Given the description of an element on the screen output the (x, y) to click on. 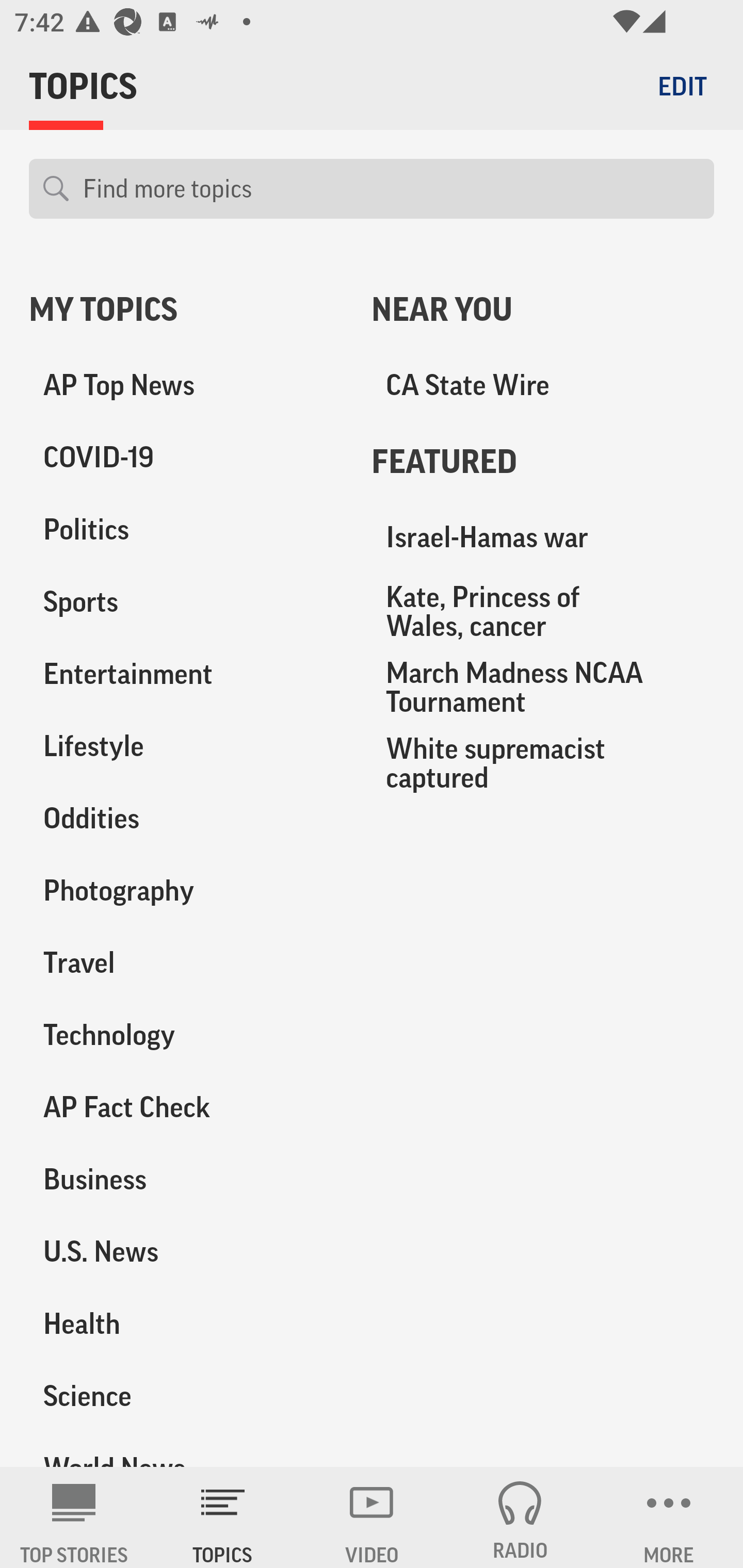
EDIT (682, 86)
Find more topics (391, 188)
AP Top News (185, 385)
CA State Wire (542, 385)
COVID-19 (185, 457)
Politics (185, 529)
Israel-Hamas war (542, 537)
Sports (185, 602)
Kate, Princess of Wales, cancer (542, 611)
Entertainment (185, 674)
March Madness NCAA Tournament (542, 686)
Lifestyle (185, 746)
White supremacist captured (542, 762)
Oddities (185, 818)
Photography (185, 890)
Travel (185, 962)
Technology (185, 1034)
AP Fact Check (185, 1106)
Business (185, 1179)
U.S. News (185, 1251)
Health (185, 1323)
Science (185, 1395)
AP News TOP STORIES (74, 1517)
TOPICS (222, 1517)
VIDEO (371, 1517)
RADIO (519, 1517)
MORE (668, 1517)
